Given the description of an element on the screen output the (x, y) to click on. 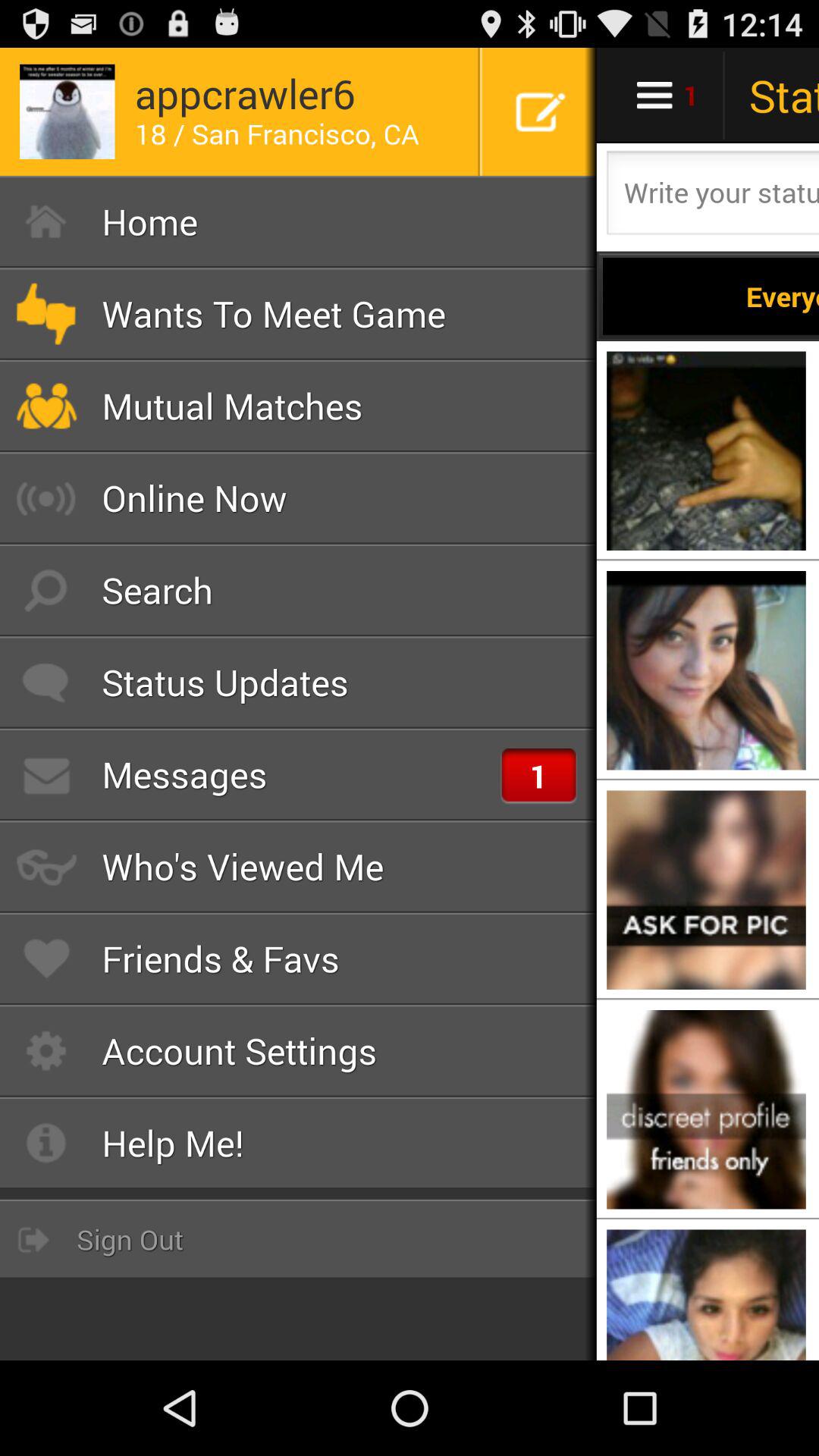
scroll to the who s viewed (298, 866)
